Given the description of an element on the screen output the (x, y) to click on. 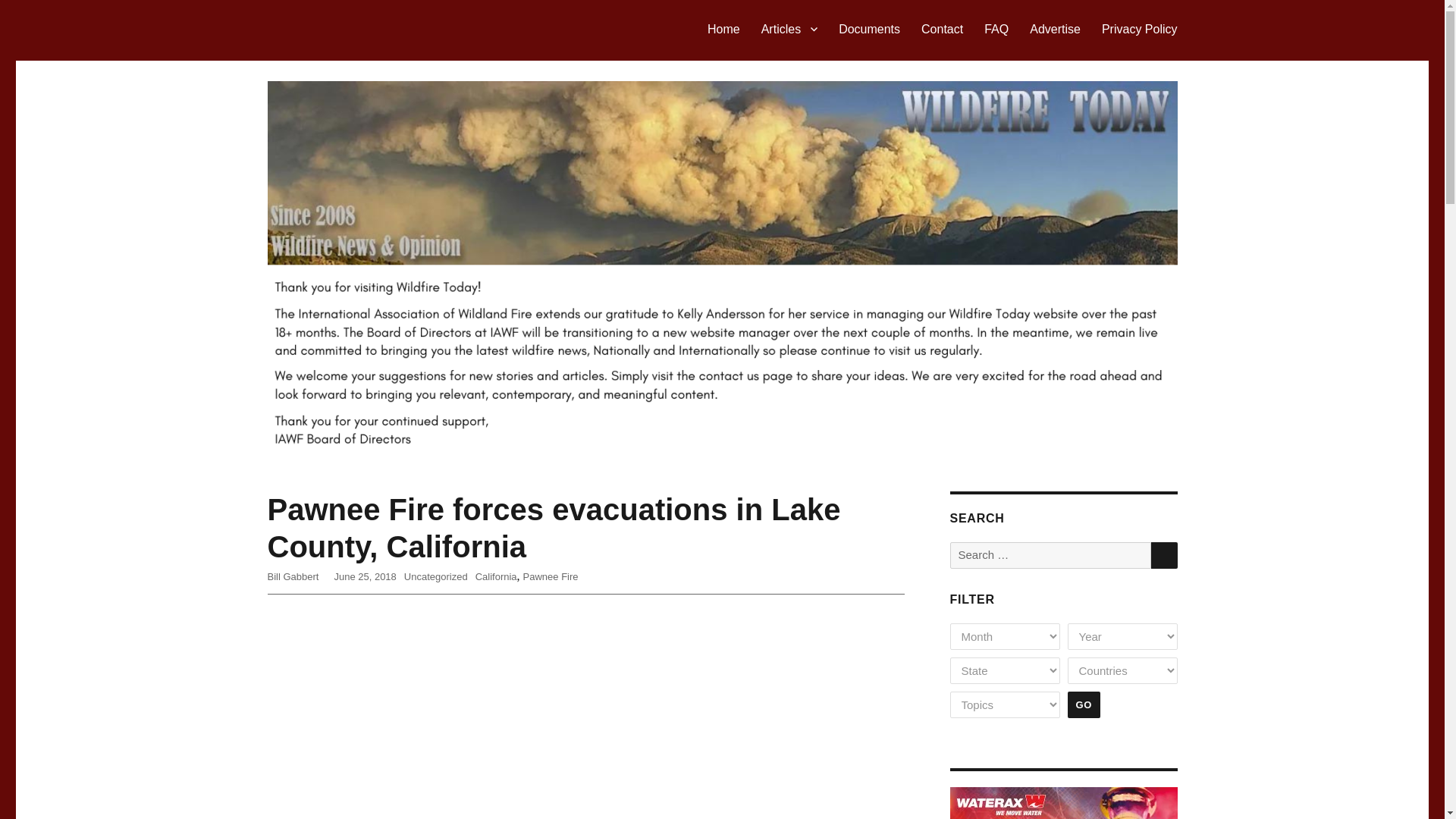
Contact (942, 29)
Articles (789, 29)
Documents (869, 29)
June 25, 2018 (364, 576)
FAQ (996, 29)
California (496, 576)
Uncategorized (435, 576)
Advertise (1054, 29)
Pawnee Fire (550, 576)
Bill Gabbert (292, 576)
